Given the description of an element on the screen output the (x, y) to click on. 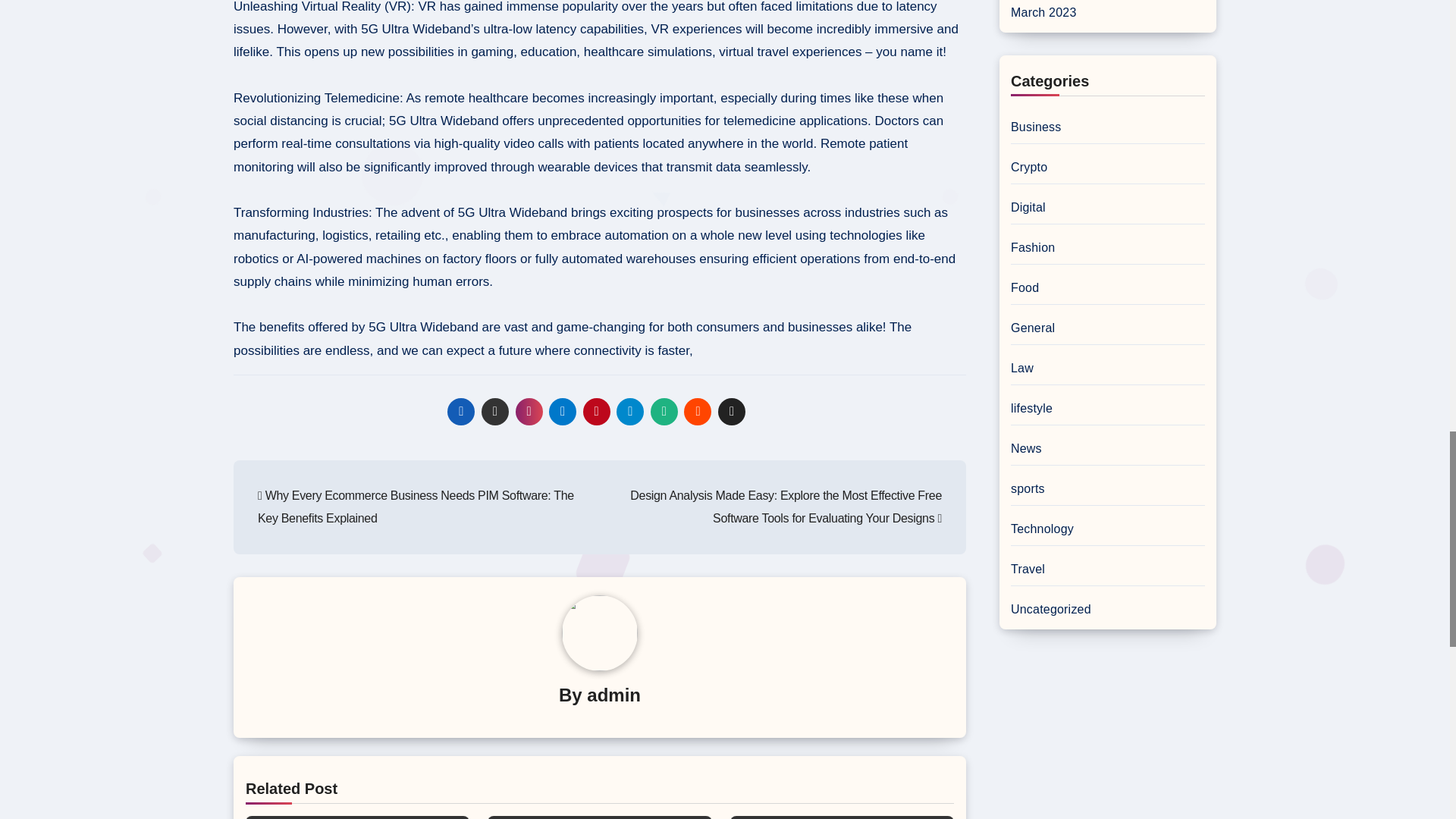
admin (613, 694)
